Given the description of an element on the screen output the (x, y) to click on. 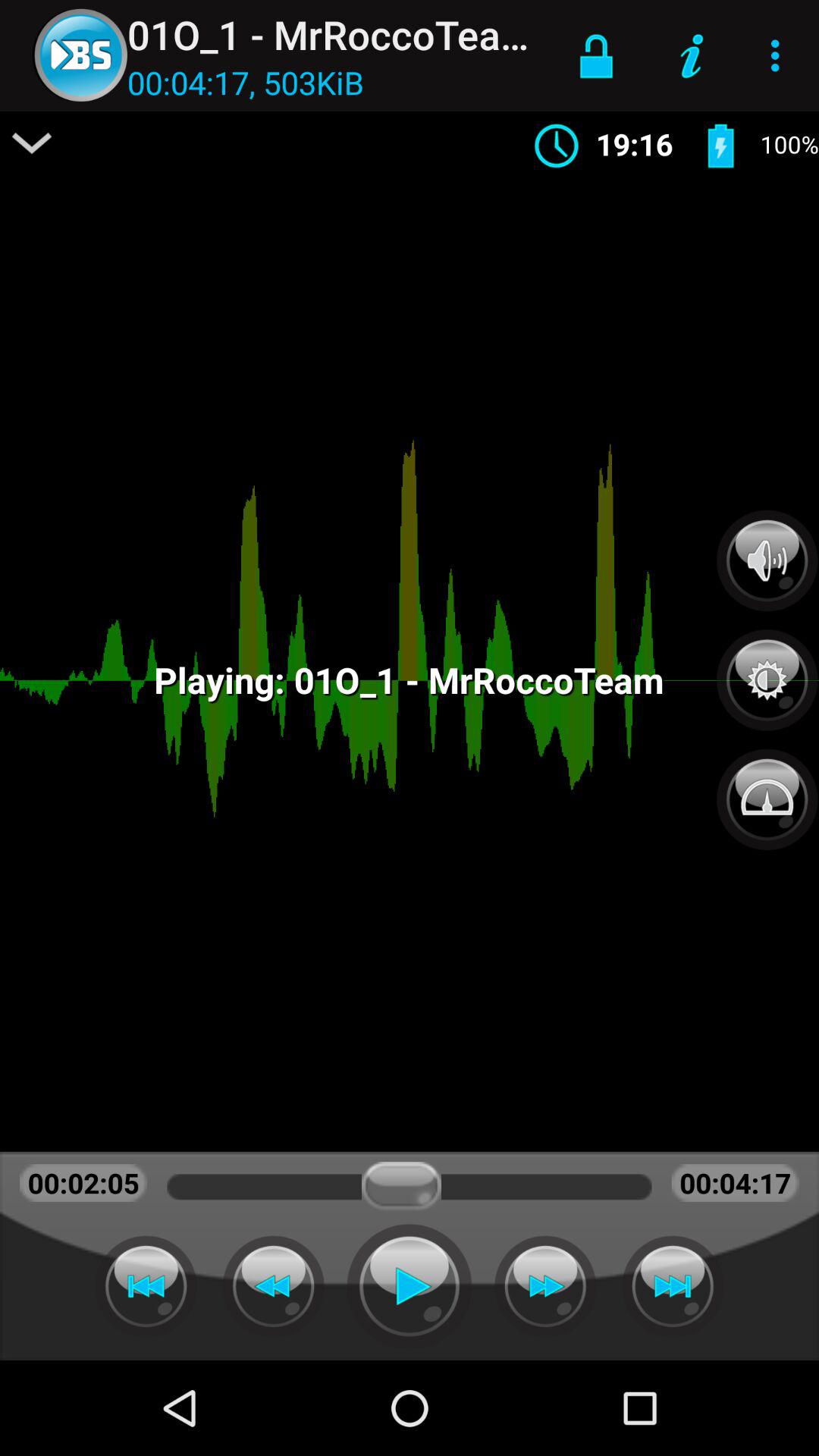
go to previous (145, 1286)
